Given the description of an element on the screen output the (x, y) to click on. 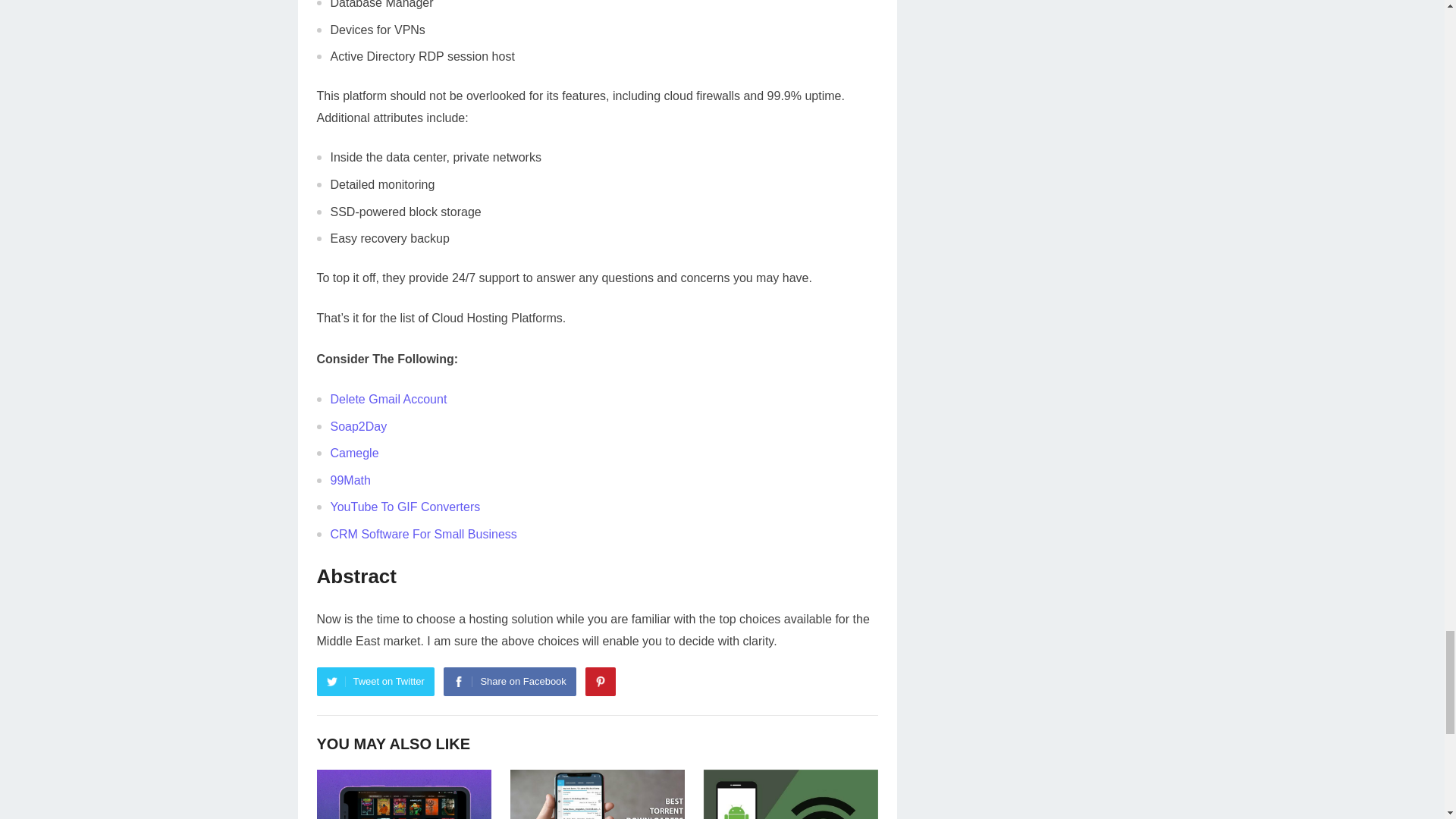
YouTube To GIF Converters (405, 506)
99Math (350, 480)
Camegle (354, 452)
Soap2Day (358, 426)
Share on Facebook (509, 681)
Tweet on Twitter (375, 681)
CRM Software For Small Business (423, 533)
Delete Gmail Account (388, 399)
Pinterest (600, 681)
